Given the description of an element on the screen output the (x, y) to click on. 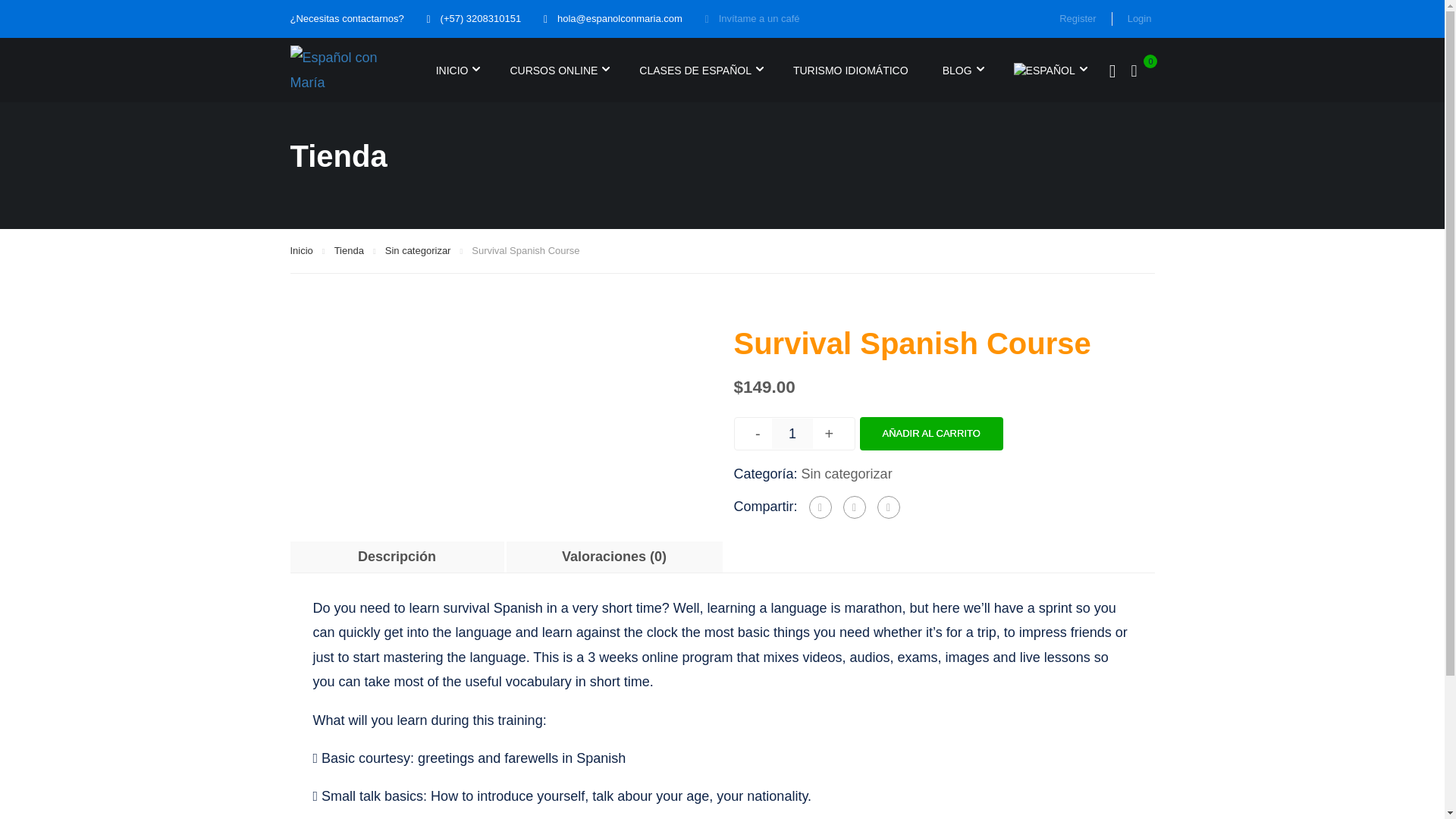
CURSOS ONLINE (550, 70)
Register (1077, 18)
Pinterest (888, 507)
Login (1133, 18)
Twitter (854, 507)
INICIO (448, 70)
1 (791, 433)
Facebook (820, 507)
